Given the description of an element on the screen output the (x, y) to click on. 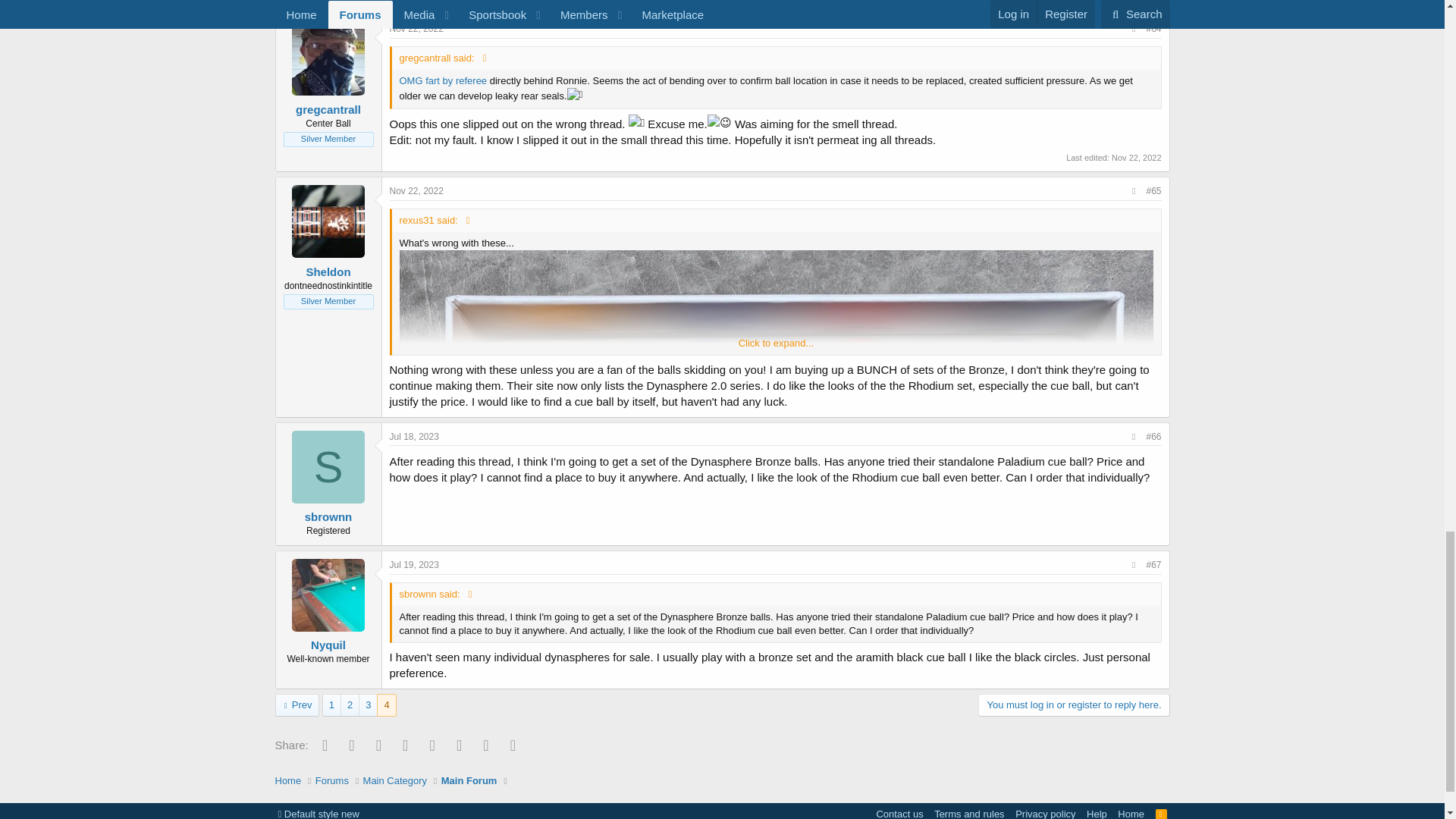
Nov 22, 2022 at 5:58 PM (417, 28)
